Given the description of an element on the screen output the (x, y) to click on. 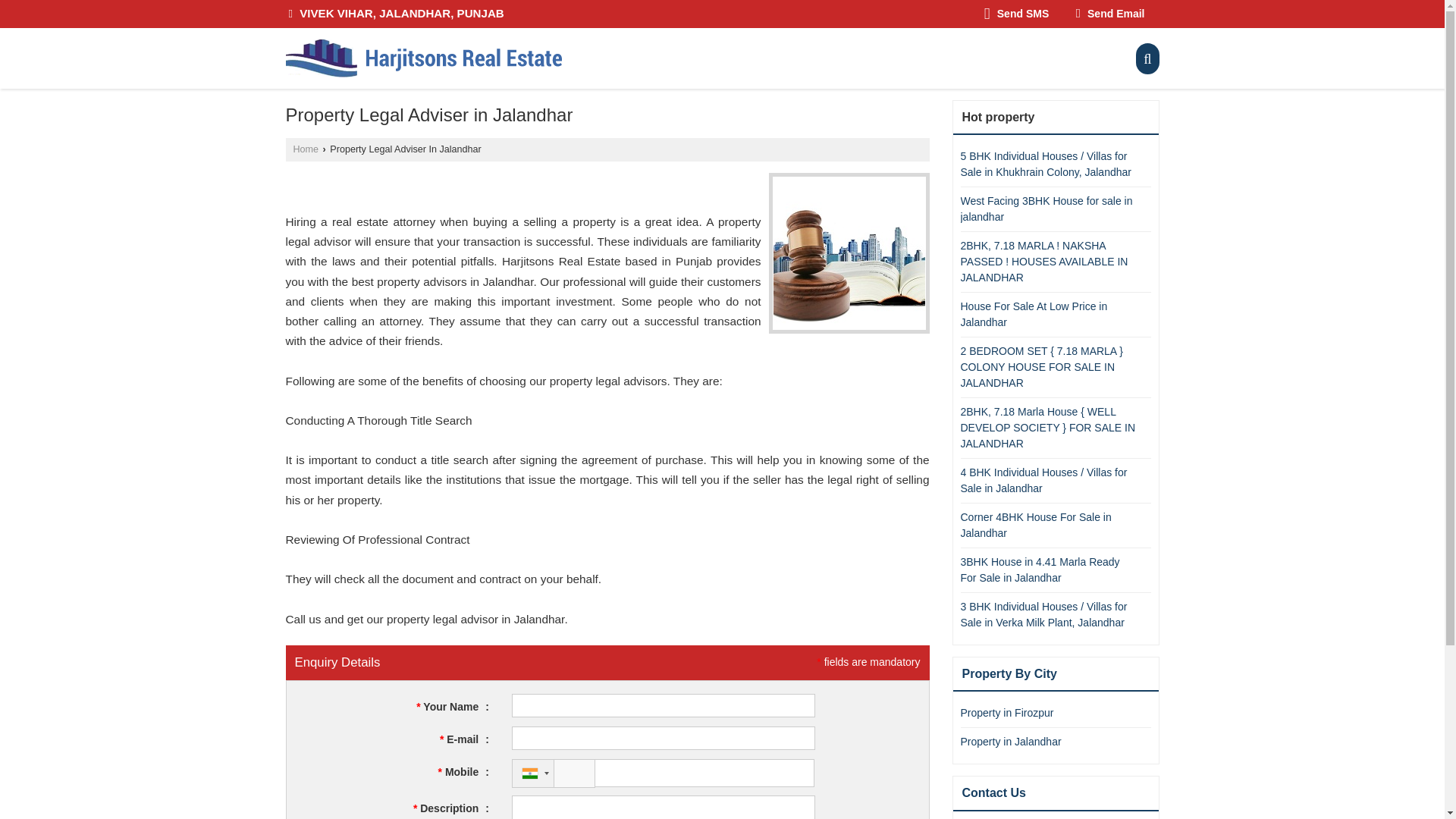
Send SMS (1015, 14)
Send Email (1110, 14)
Harjitsons Real Estate (422, 57)
